Given the description of an element on the screen output the (x, y) to click on. 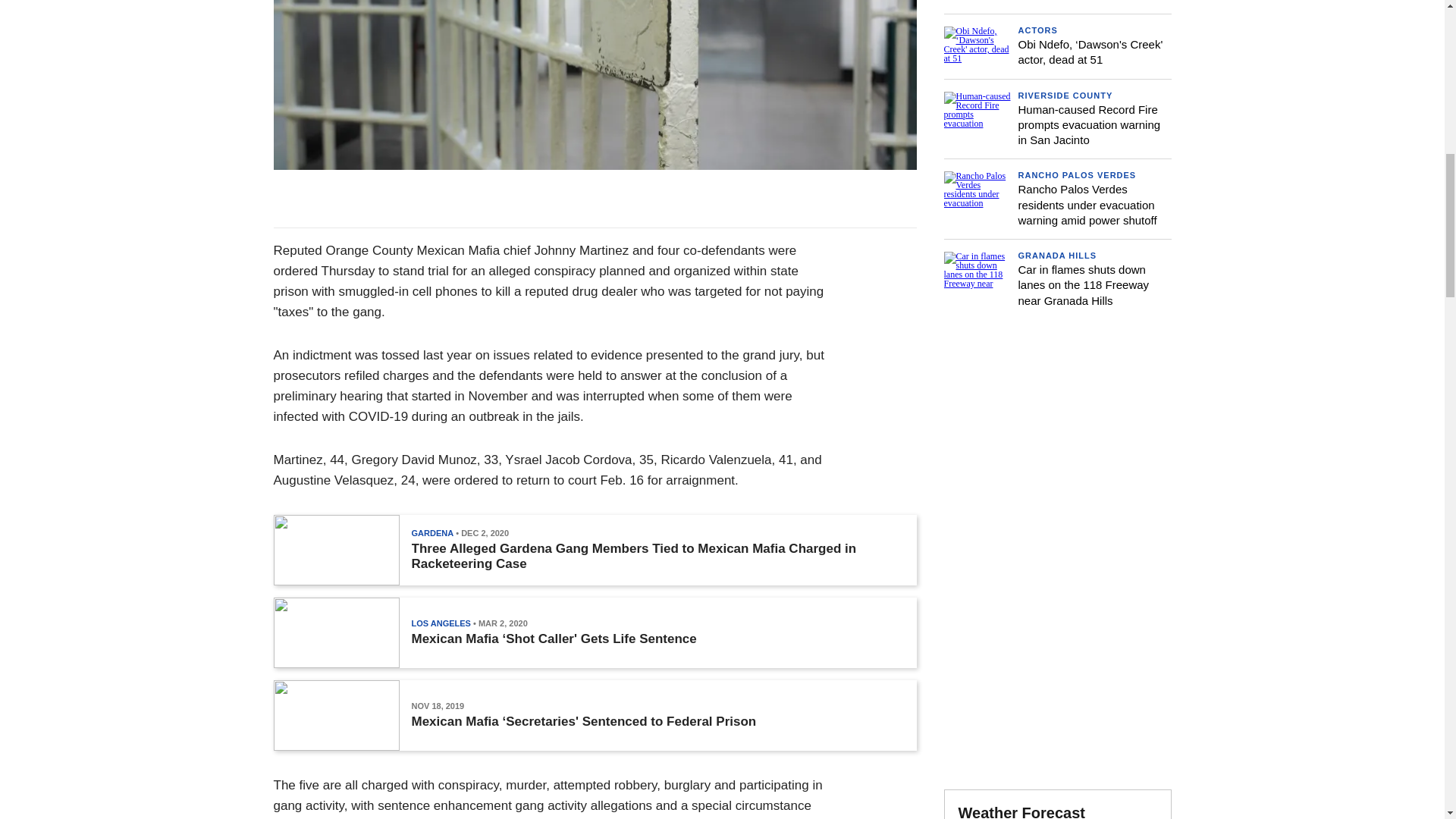
LOS ANGELES (440, 623)
GARDENA (431, 532)
